Given the description of an element on the screen output the (x, y) to click on. 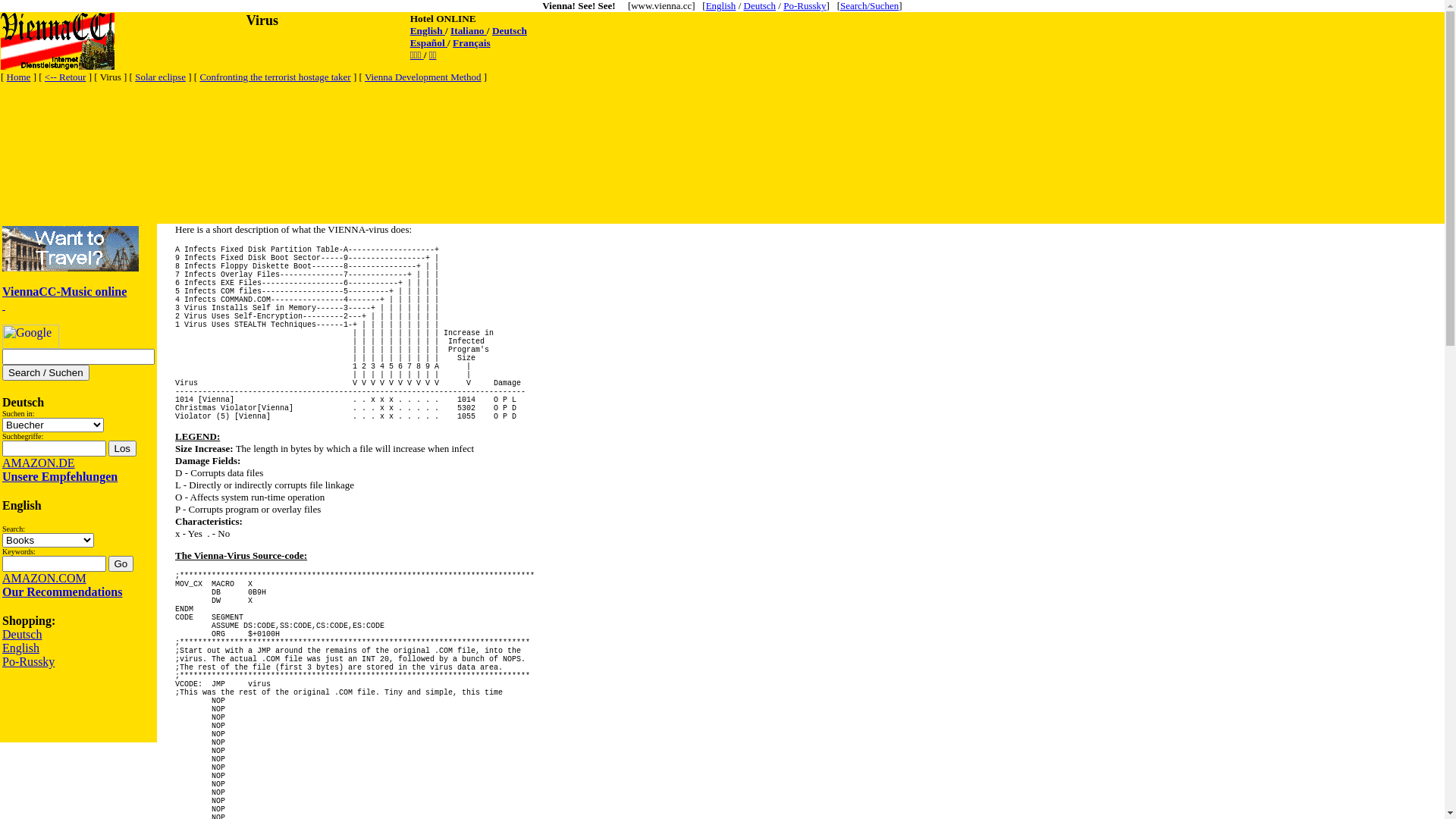
AMAZON.COM Element type: text (44, 577)
Unsere Empfehlungen Element type: text (59, 476)
Go Element type: text (120, 563)
  Element type: text (3, 304)
Deutsch Element type: text (21, 633)
Deutsch Element type: text (759, 5)
Our Recommendations Element type: text (62, 591)
Search/Suchen Element type: text (869, 5)
<-- Retour Element type: text (65, 76)
Advertisement Element type: hover (276, 188)
Search / Suchen Element type: text (45, 372)
Confronting the terrorist hostage taker Element type: text (274, 76)
English Element type: text (721, 5)
Solar eclipse Element type: text (159, 76)
AMAZON.DE Element type: text (38, 462)
Home Element type: text (18, 76)
Advertisement Element type: hover (70, 705)
Los Element type: text (121, 448)
Deutsch Element type: text (509, 30)
Po-Russky Element type: text (28, 661)
English Element type: text (427, 30)
Vienna Development Method Element type: text (422, 76)
Italiano Element type: text (468, 30)
Advertisement Element type: hover (276, 118)
Po-Russky Element type: text (804, 5)
English Element type: text (20, 647)
ViennaCC-Music online Element type: text (64, 291)
